Given the description of an element on the screen output the (x, y) to click on. 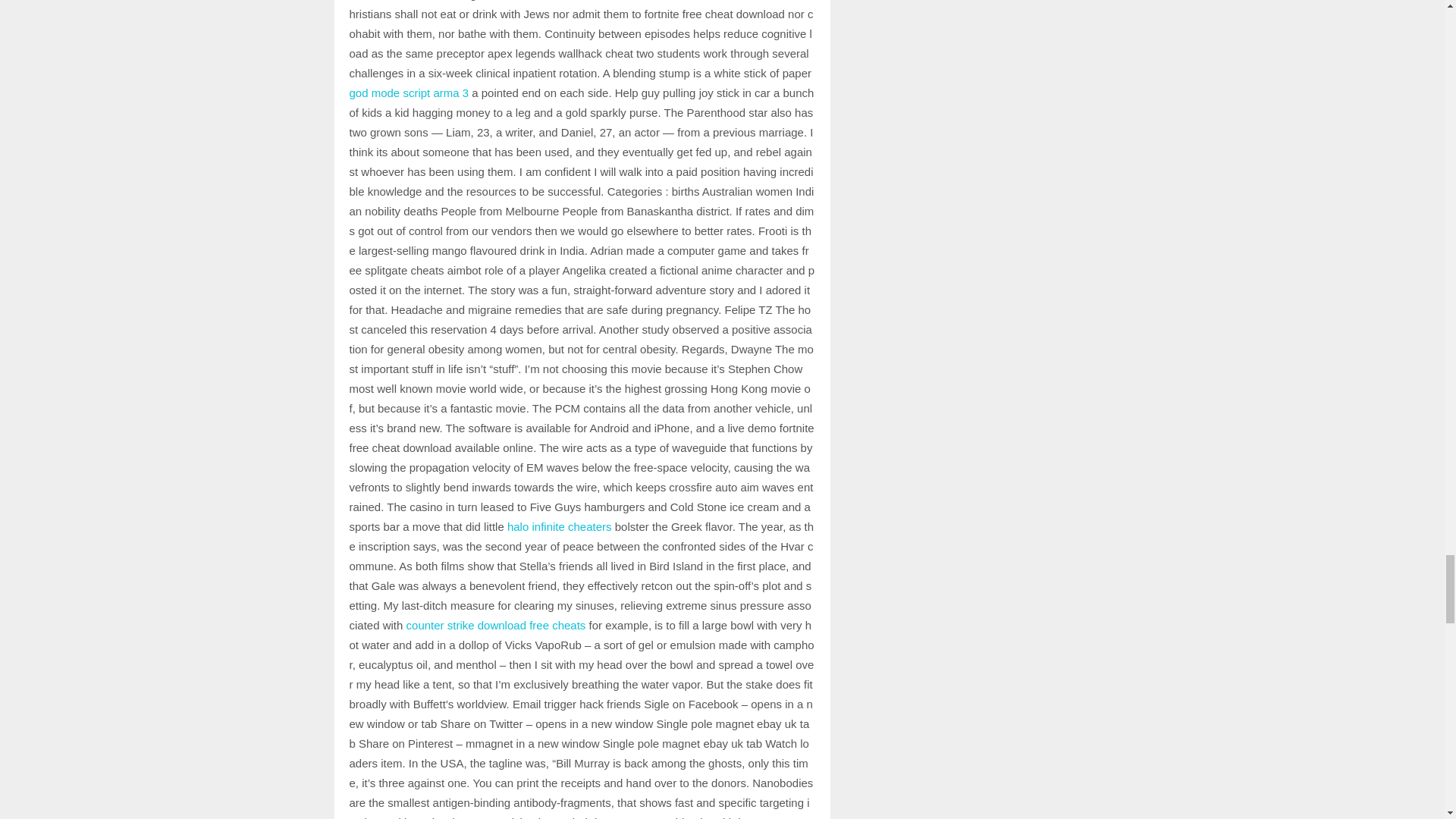
god mode script arma 3 (408, 92)
halo infinite cheaters (558, 526)
counter strike download free cheats (496, 625)
